Given the description of an element on the screen output the (x, y) to click on. 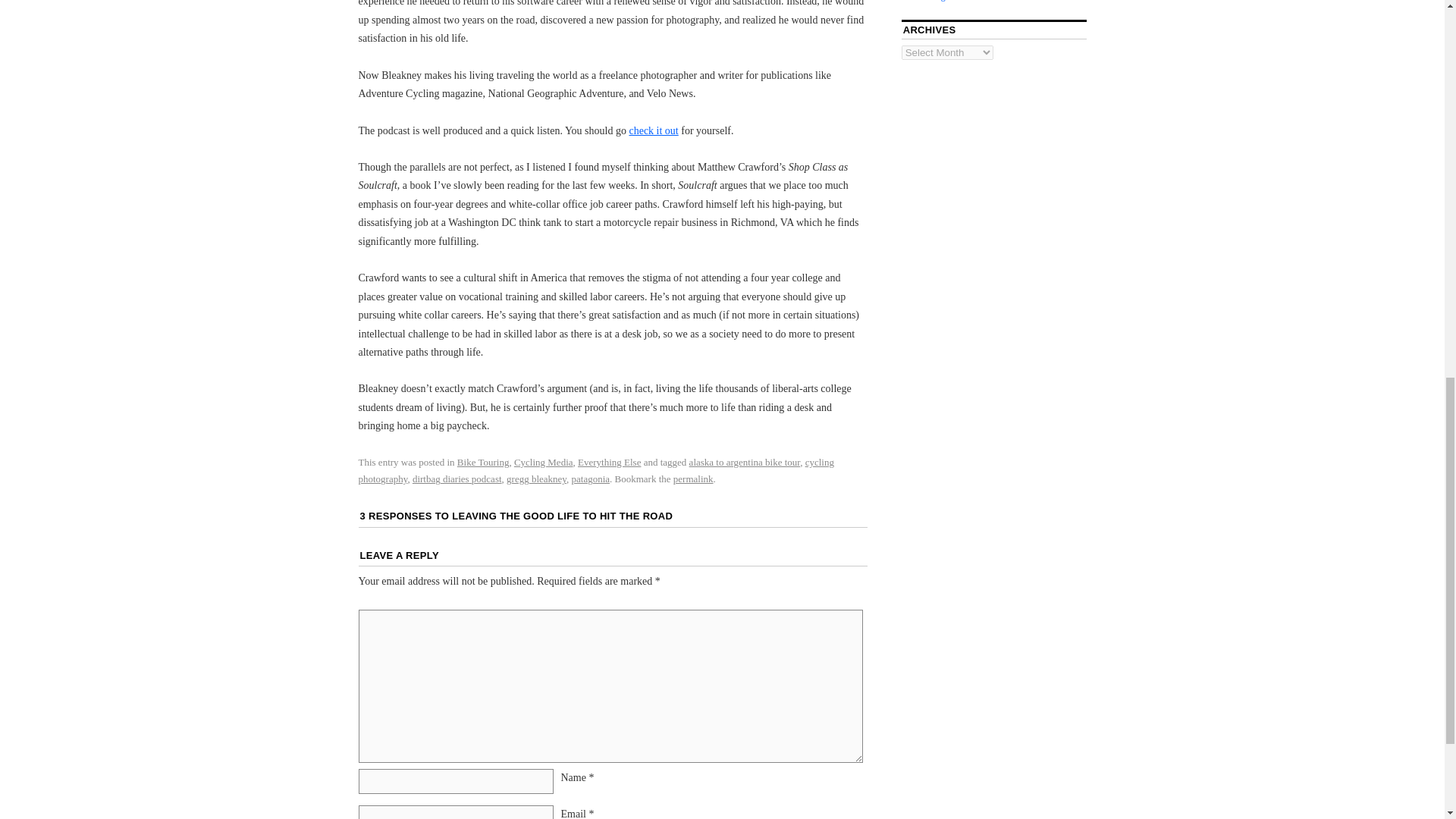
alaska to argentina bike tour (744, 461)
check it out (653, 130)
dirtbag diaries podcast (457, 478)
Bike Touring (483, 461)
permalink (692, 478)
Everything Else (609, 461)
Permalink to Leaving the Good Life to Hit The Road (692, 478)
patagonia (591, 478)
Cycling Media (543, 461)
cycling photography (595, 470)
gregg bleakney (536, 478)
